Given the description of an element on the screen output the (x, y) to click on. 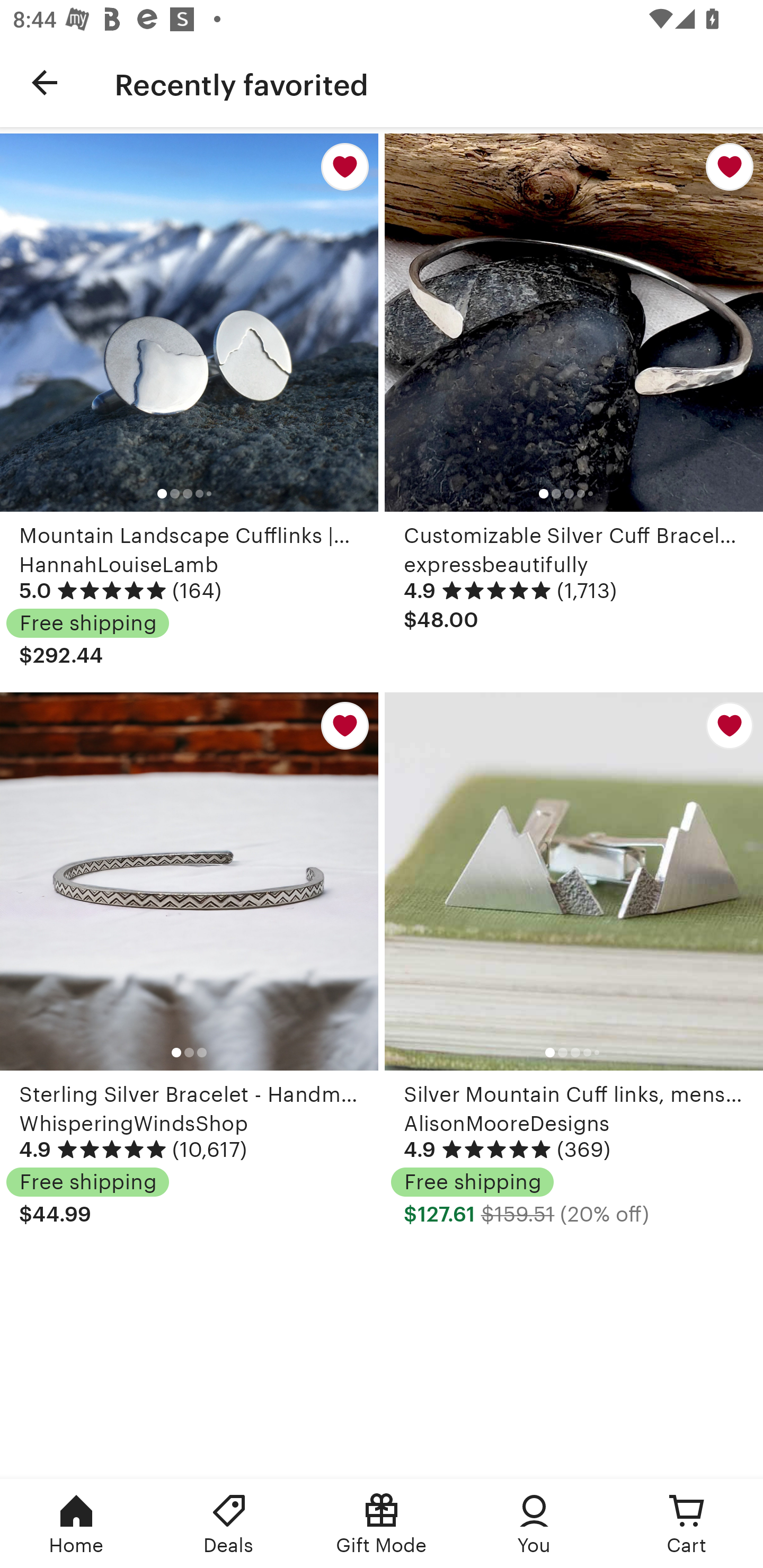
Navigate up (44, 82)
Deals (228, 1523)
Gift Mode (381, 1523)
You (533, 1523)
Cart (686, 1523)
